Given the description of an element on the screen output the (x, y) to click on. 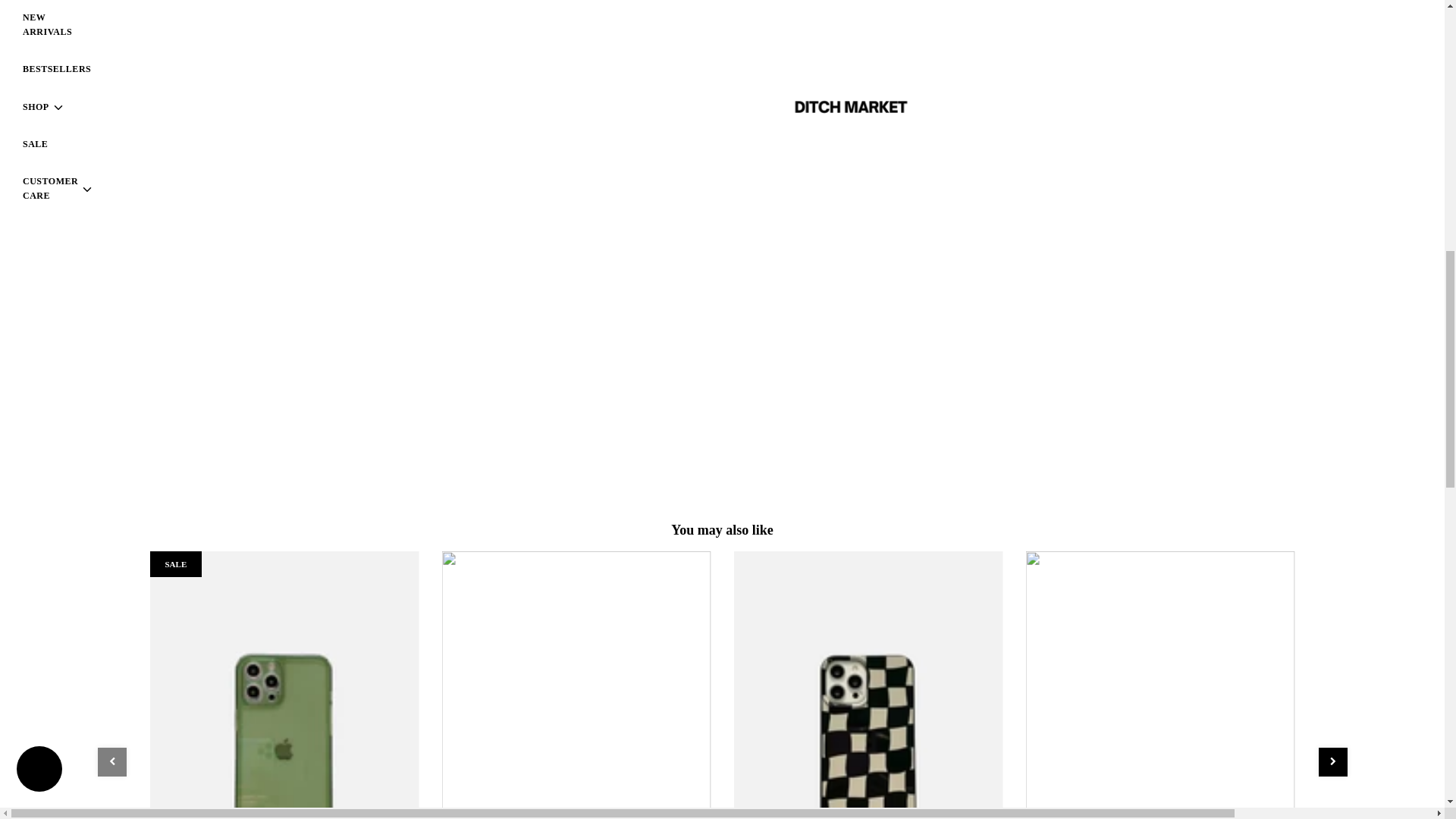
Embroidered Animal Bear iPhone Case (575, 685)
Lattice Black Soft Silicone iPhone Case (868, 685)
Translucent Brown iPhone Case (1159, 685)
Jelly Green Transparent iPhone Case (284, 685)
